Given the description of an element on the screen output the (x, y) to click on. 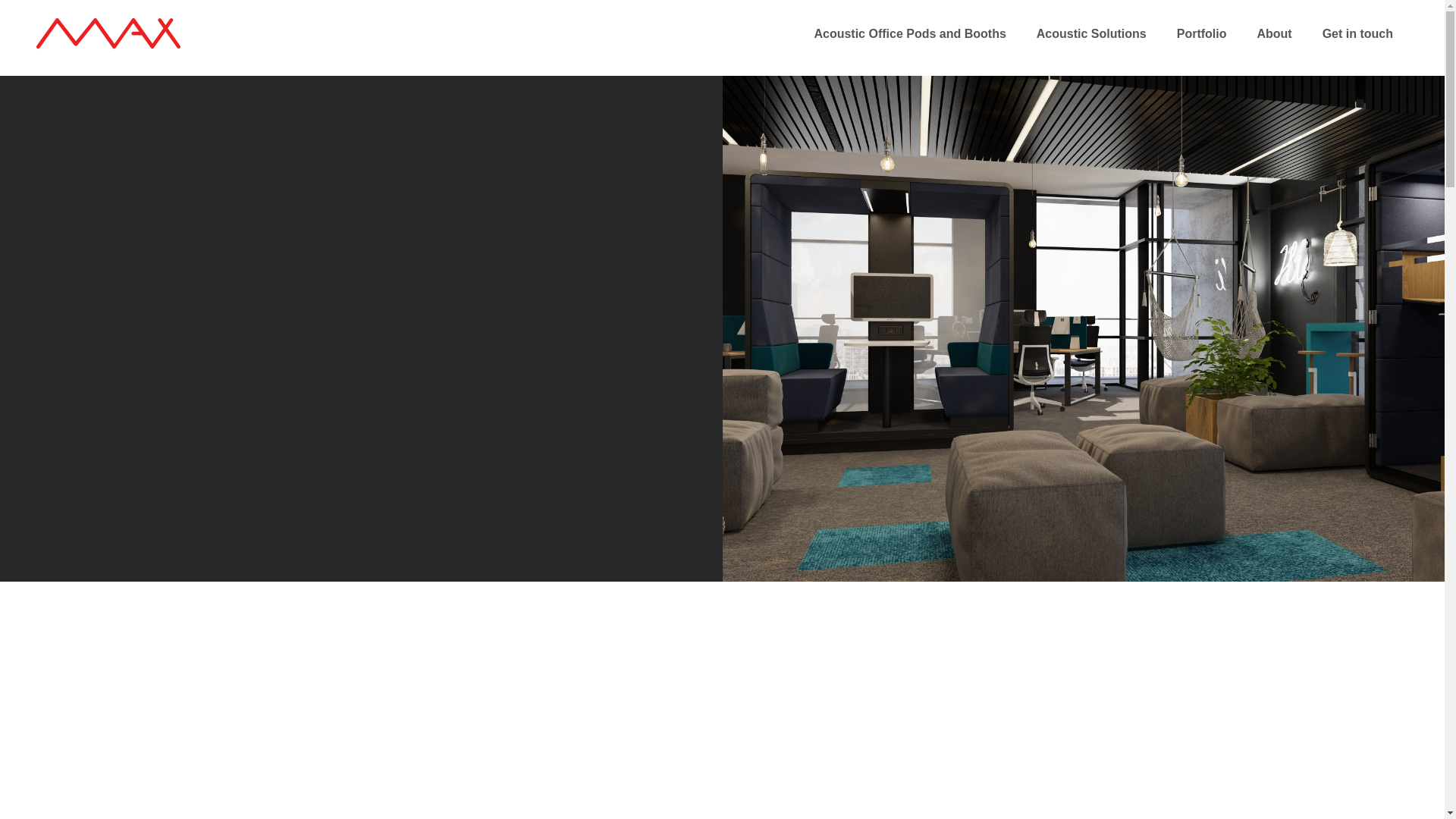
Acoustic Office Pods and Booths (908, 47)
Acoustic Solutions (1091, 47)
About (1273, 47)
Portfolio (1201, 47)
Get in touch (1357, 47)
